Given the description of an element on the screen output the (x, y) to click on. 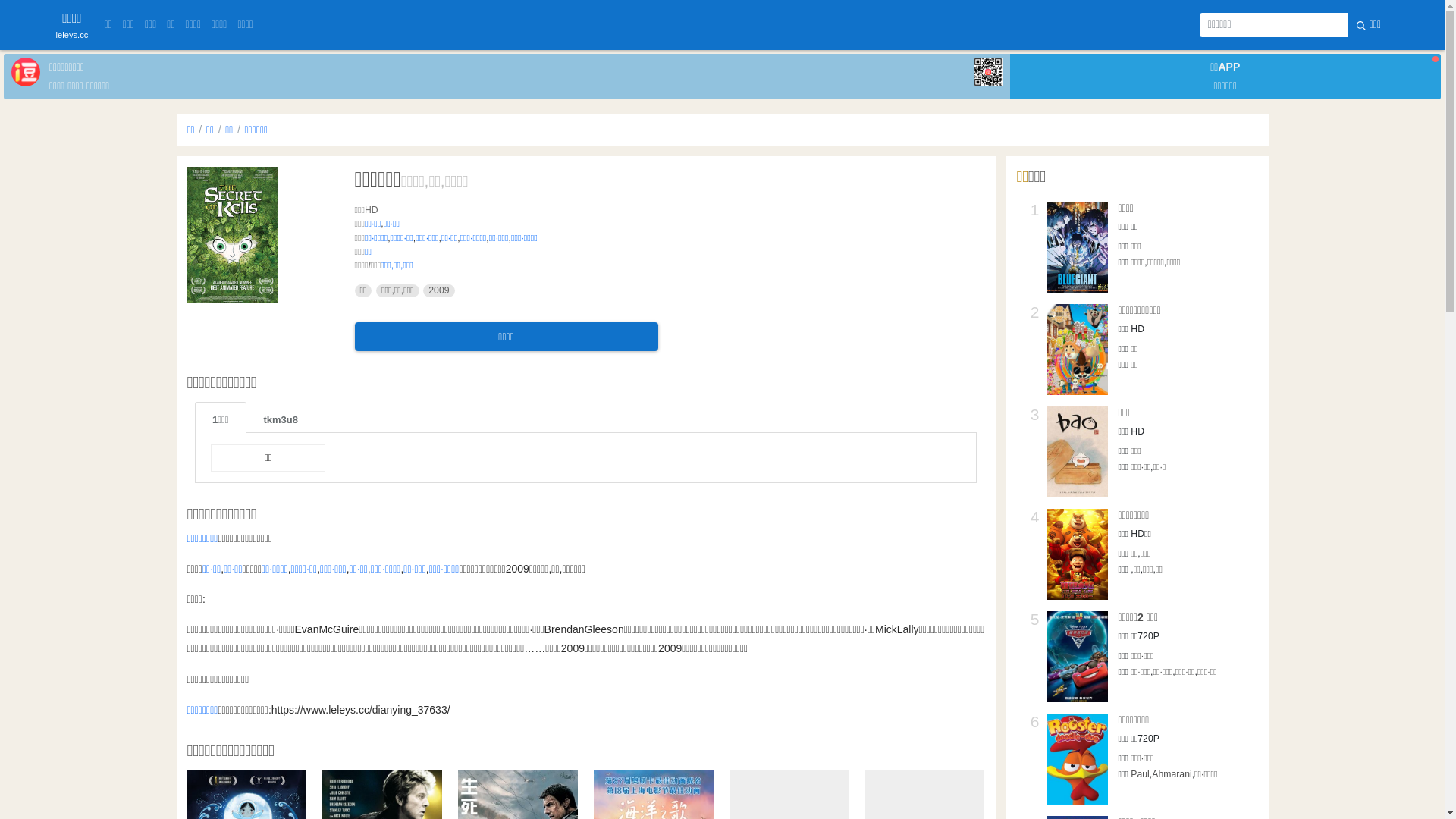
Paul Element type: text (1139, 773)
2009 Element type: text (438, 290)
Ahmarani Element type: text (1171, 773)
tkm3u8 Element type: text (280, 417)
